Given the description of an element on the screen output the (x, y) to click on. 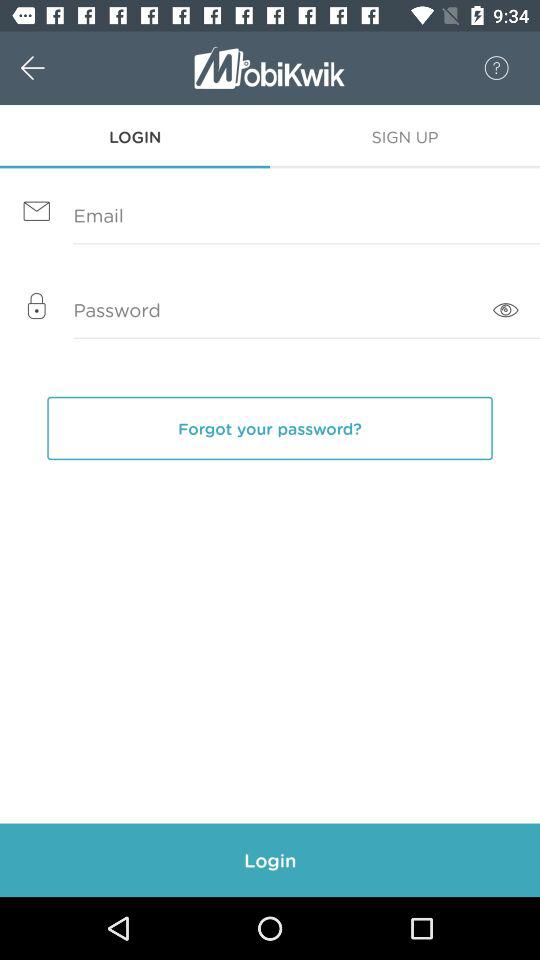
tap item to the right of login (405, 136)
